Given the description of an element on the screen output the (x, y) to click on. 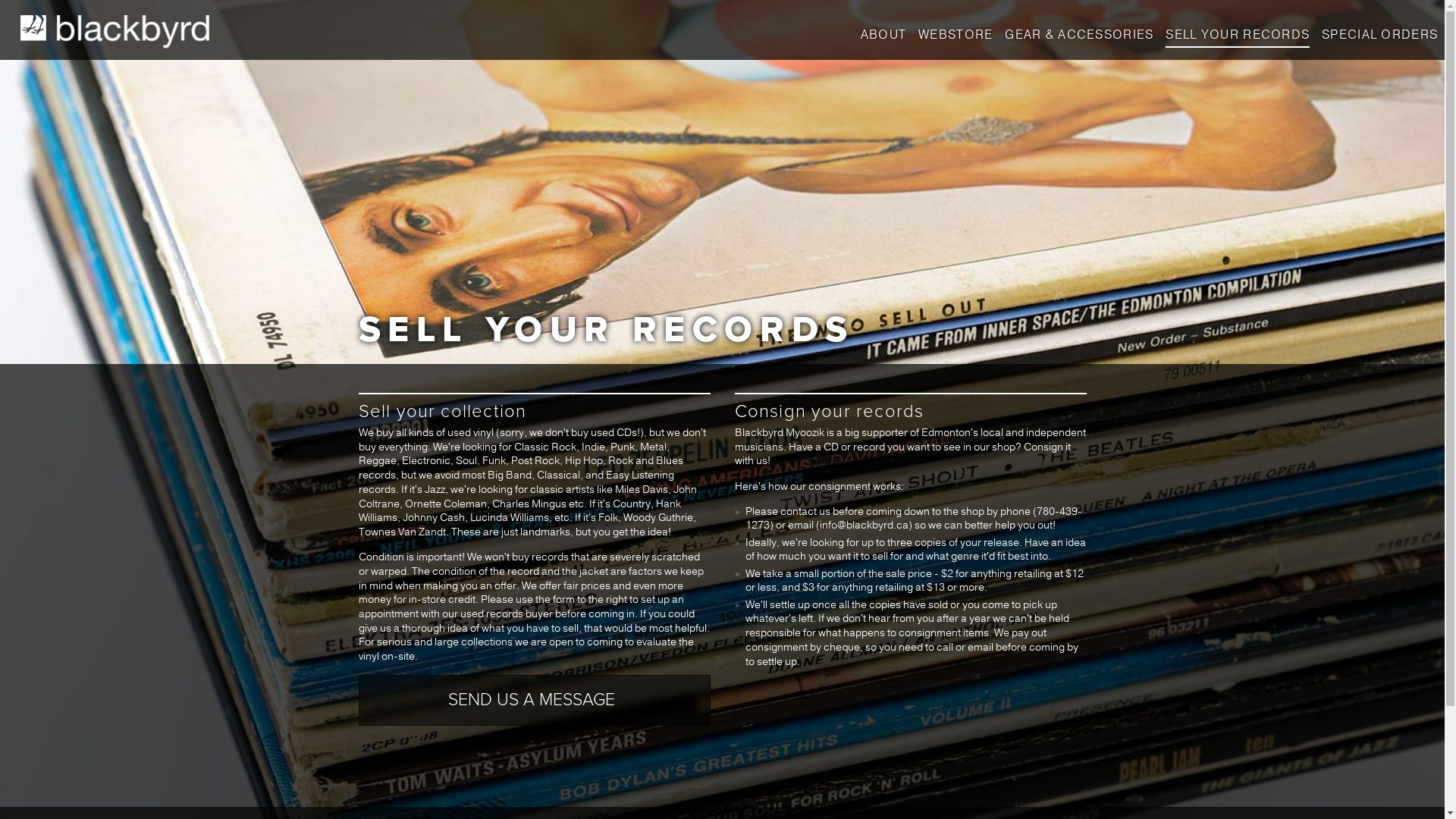
SEND US A MESSAGE Element type: text (534, 717)
SPECIAL ORDERS Element type: text (1379, 34)
ABOUT Element type: text (883, 34)
info@blackbyrd.ca Element type: text (863, 524)
WEBSTORE Element type: text (955, 34)
SELL YOUR RECORDS Element type: text (1237, 36)
Blackbyrd Myoozik Element type: text (114, 31)
GEAR & ACCESSORIES Element type: text (1078, 34)
